Given the description of an element on the screen output the (x, y) to click on. 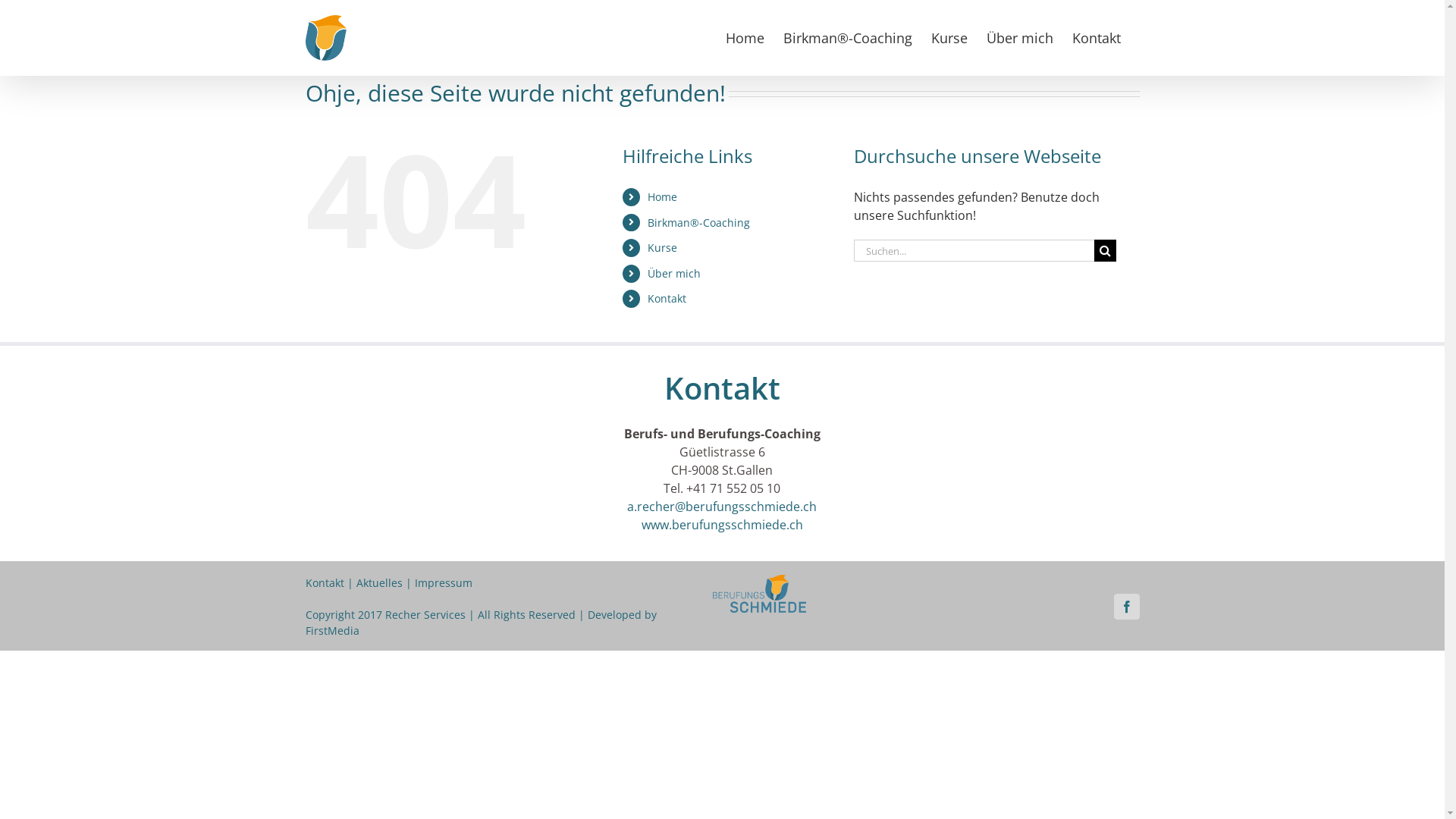
FirstMedia Element type: text (331, 630)
Kurse Element type: text (662, 247)
Impressum Element type: text (442, 582)
Home Element type: text (743, 36)
Kurse Element type: text (949, 36)
Aktuelles Element type: text (379, 582)
www.berufungsschmiede.ch Element type: text (722, 524)
a.recher@berufungsschmiede.ch Element type: text (721, 506)
Kontakt Element type: text (666, 298)
Facebook Element type: text (1126, 606)
Home Element type: text (662, 196)
Kontakt Element type: text (1096, 36)
Kontakt Element type: text (323, 582)
